Given the description of an element on the screen output the (x, y) to click on. 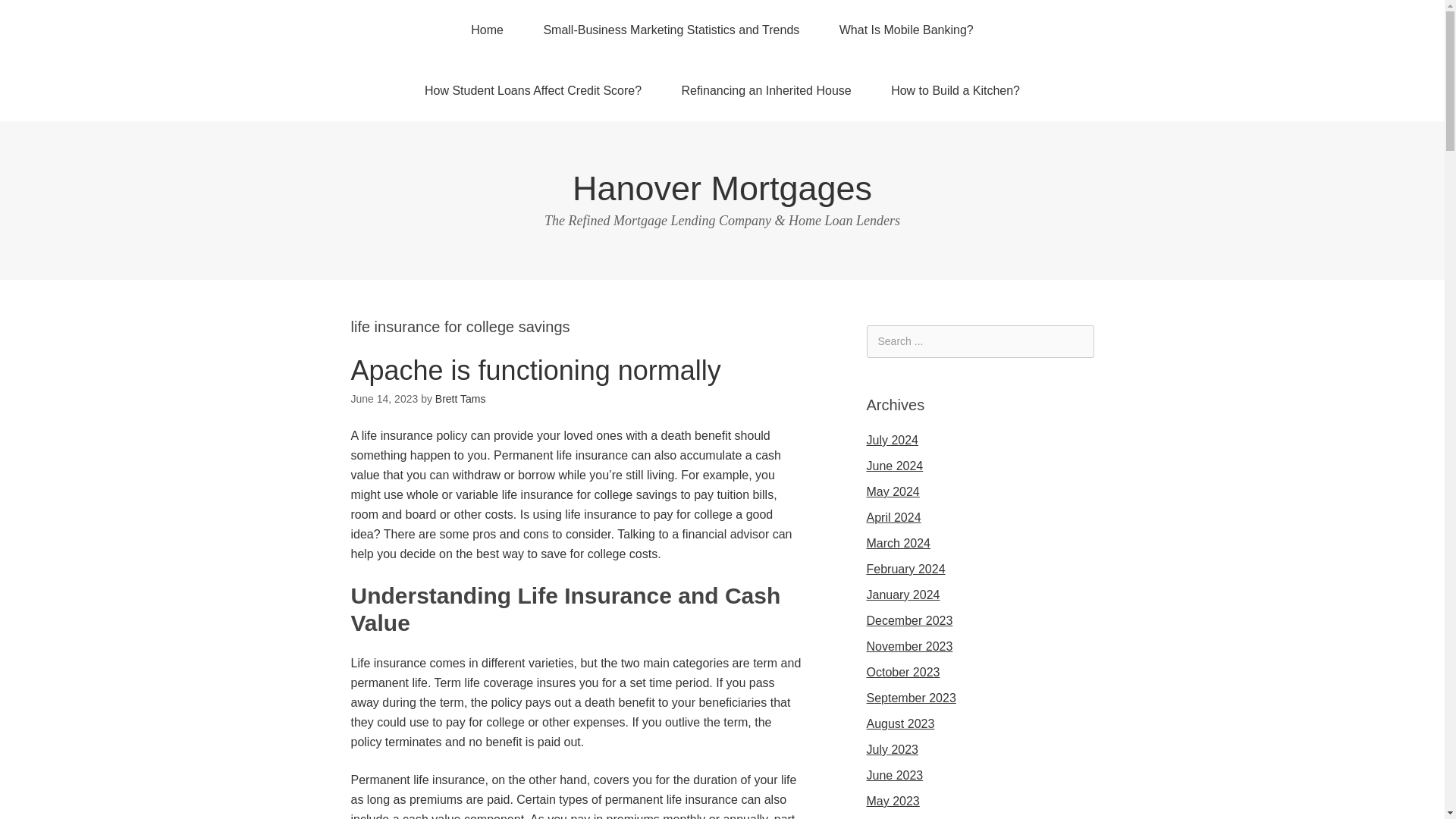
Small-Business Marketing Statistics and Trends (670, 30)
Home (486, 30)
Search for: (979, 341)
Apache is functioning normally (535, 369)
Hanover Mortgages (722, 188)
Hanover Mortgages (722, 188)
Wednesday, June 14, 2023, 7:14 pm (383, 398)
Refinancing an Inherited House (766, 90)
What Is Mobile Banking? (906, 30)
Posts by Brett Tams (460, 398)
How to Build a Kitchen? (955, 90)
Brett Tams (460, 398)
How Student Loans Affect Credit Score? (532, 90)
